Given the description of an element on the screen output the (x, y) to click on. 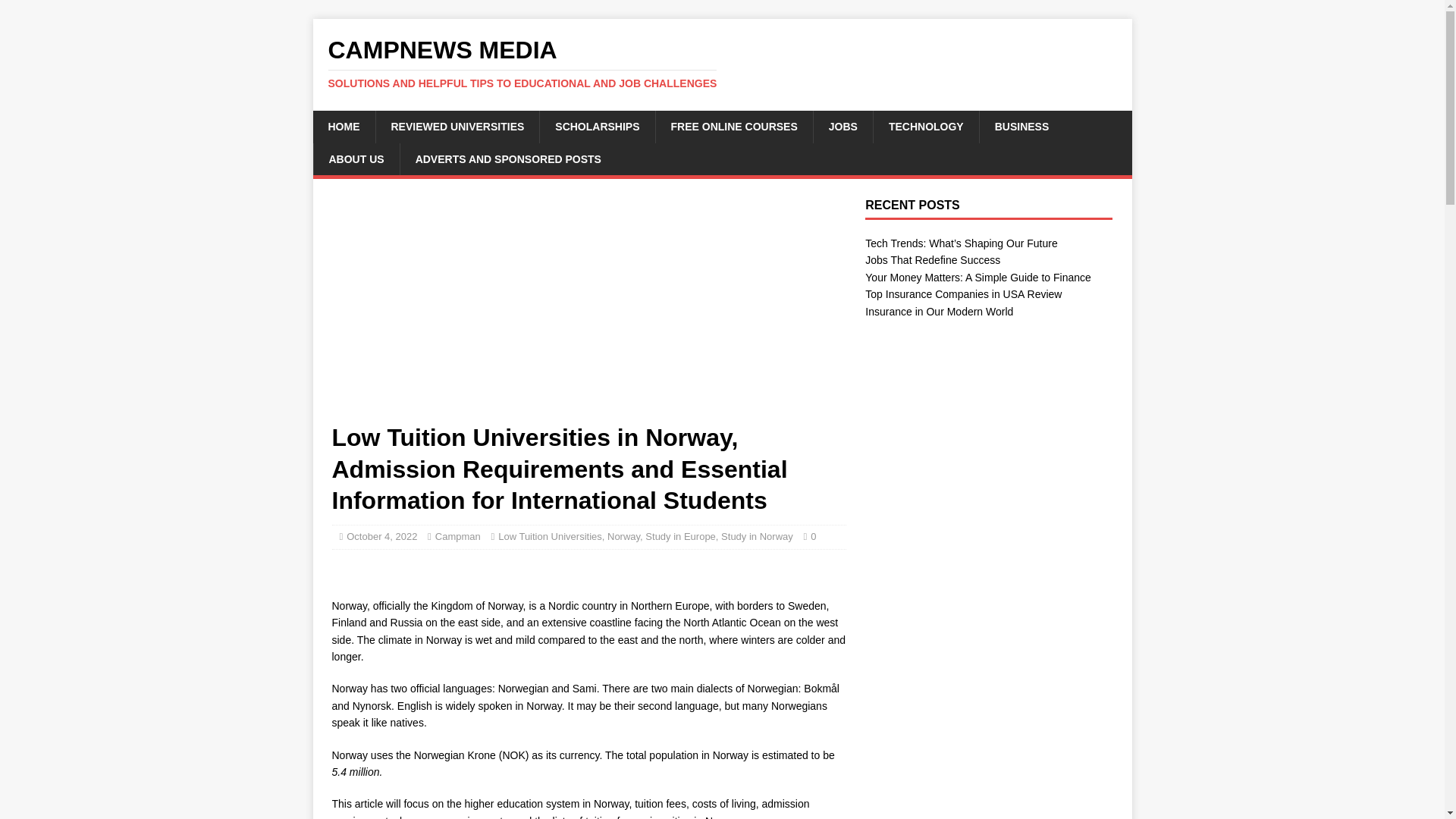
ABOUT US (355, 159)
REVIEWED UNIVERSITIES (456, 126)
Study in Europe (680, 536)
SCHOLARSHIPS (595, 126)
TECHNOLOGY (925, 126)
Insurance in Our Modern World (938, 311)
Jobs That Redefine Success (932, 259)
HOME (343, 126)
JOBS (842, 126)
ADVERTS AND SPONSORED POSTS (506, 159)
Norway (623, 536)
FREE ONLINE COURSES (733, 126)
CampNews Media (721, 63)
Your Money Matters: A Simple Guide to Finance (977, 277)
